Given the description of an element on the screen output the (x, y) to click on. 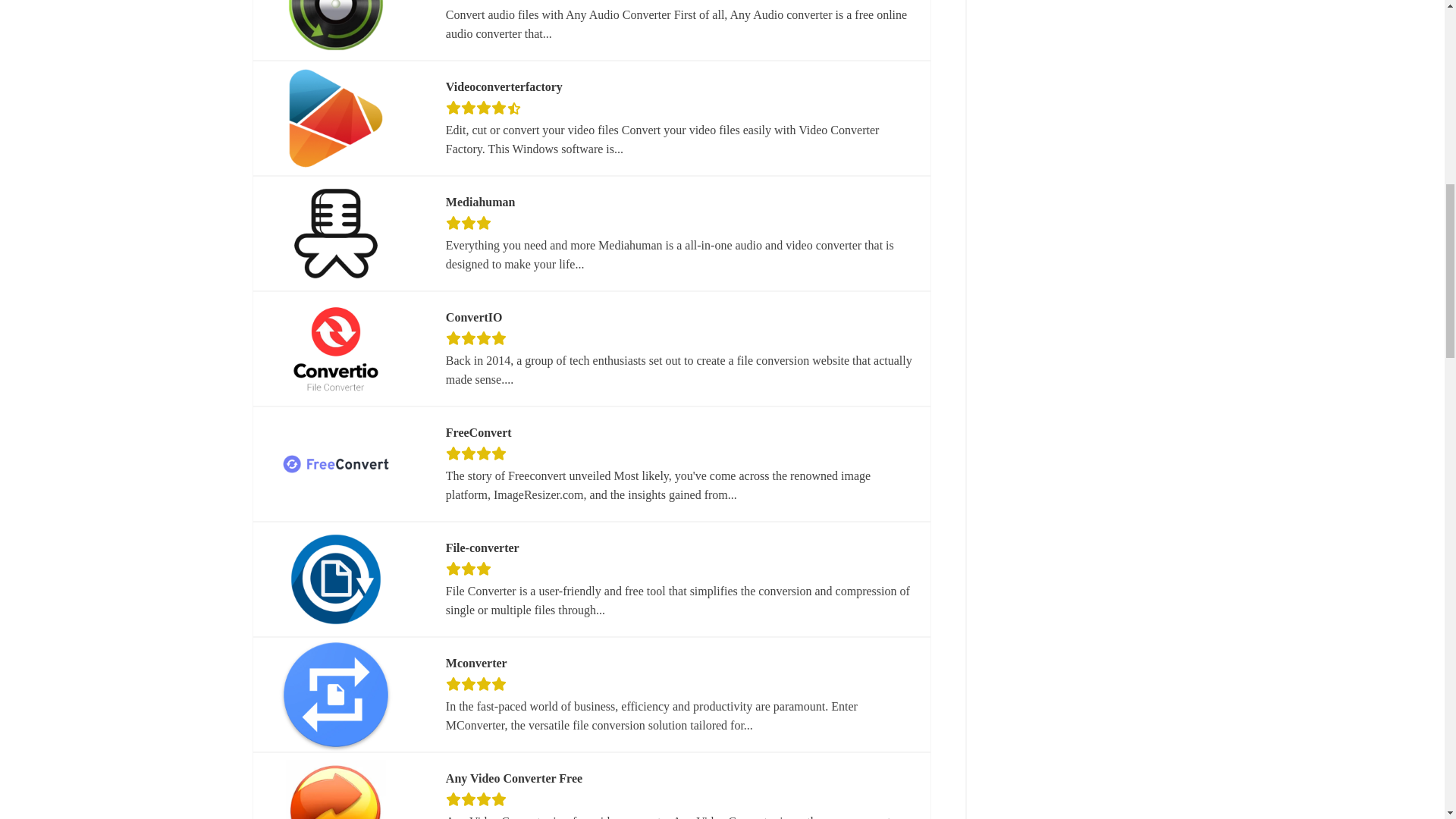
FreeConvert (478, 433)
Videoconverterfactory (503, 86)
Mediahuman (480, 202)
File-converter (482, 547)
Mconverter (475, 663)
ConvertIO (473, 317)
Any Video Converter Free (513, 778)
